Given the description of an element on the screen output the (x, y) to click on. 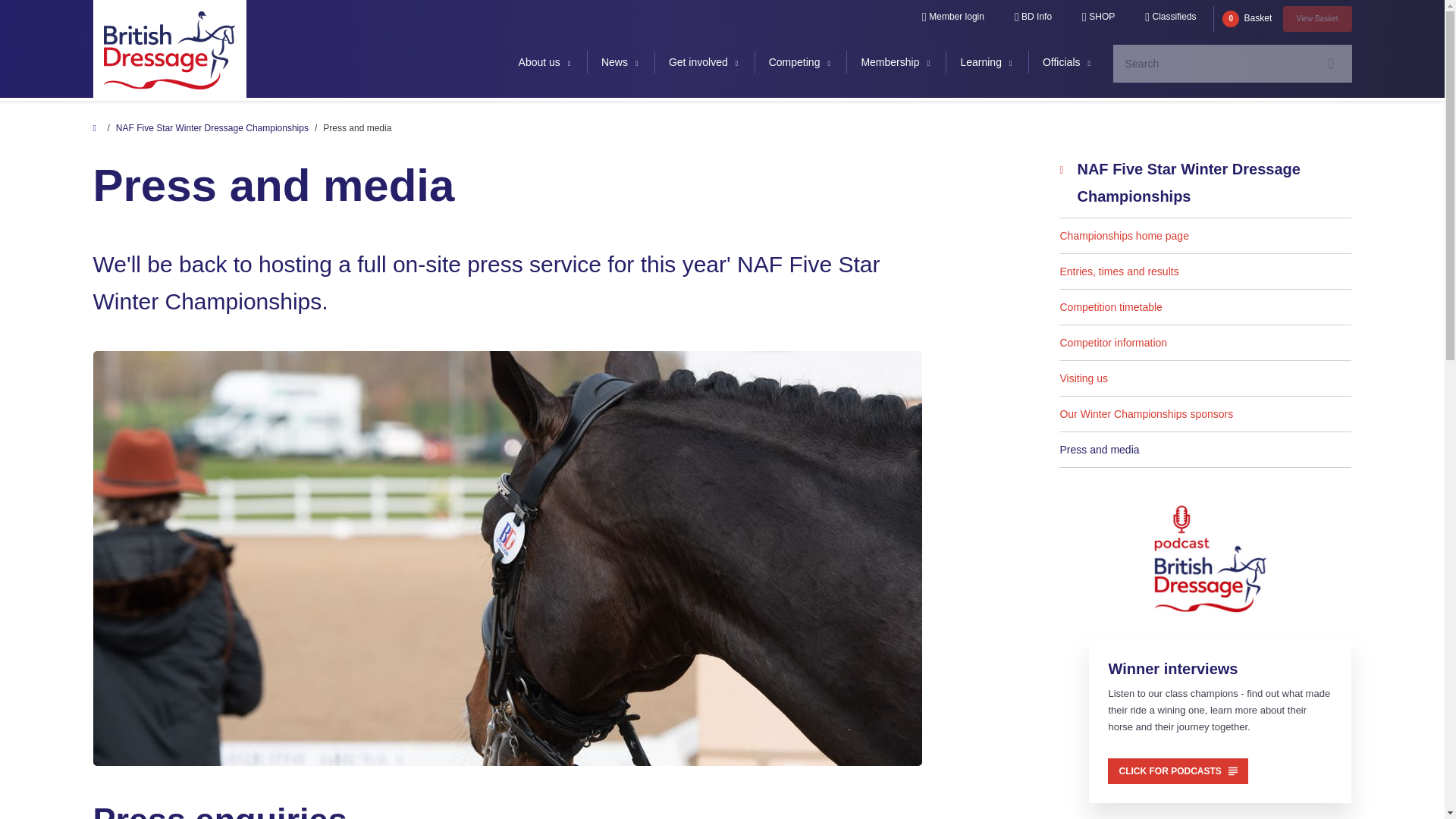
News (619, 62)
Get involved (704, 62)
About us (544, 62)
